Given the description of an element on the screen output the (x, y) to click on. 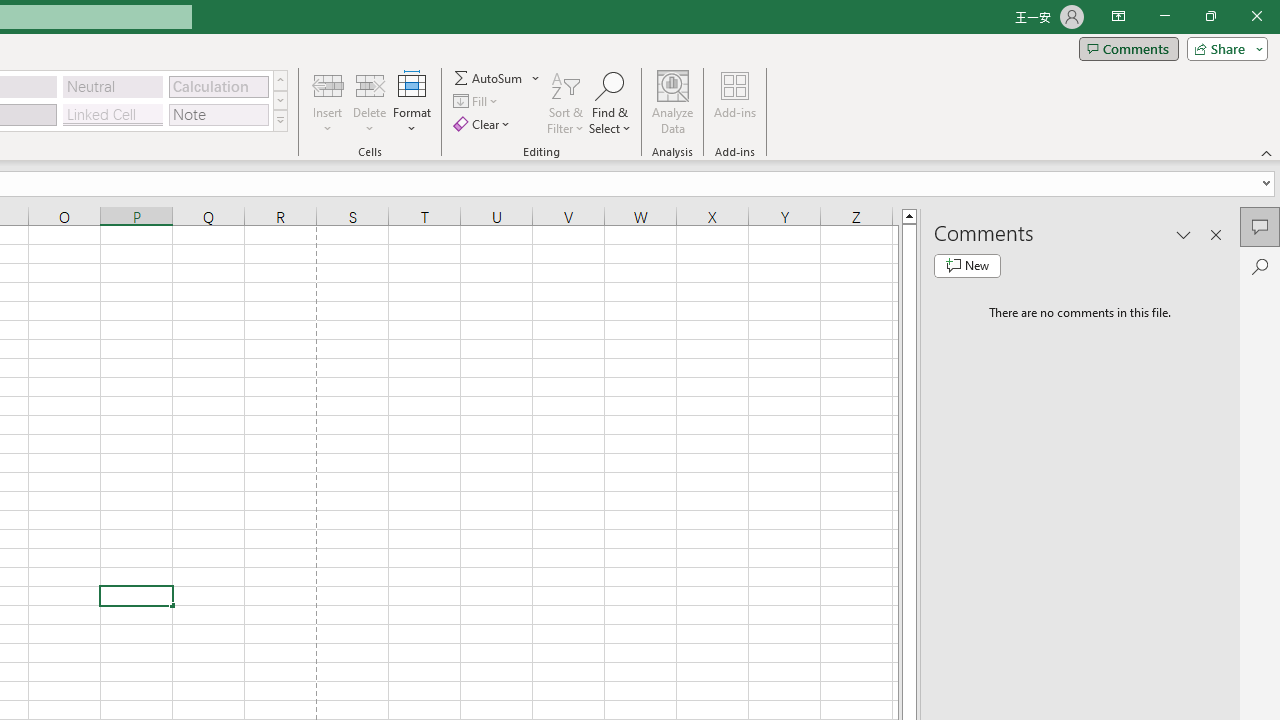
Neutral (113, 86)
Calculation (218, 86)
Find & Select (610, 102)
Note (218, 114)
Sum (489, 78)
Insert Cells (328, 84)
Cell Styles (280, 120)
